Given the description of an element on the screen output the (x, y) to click on. 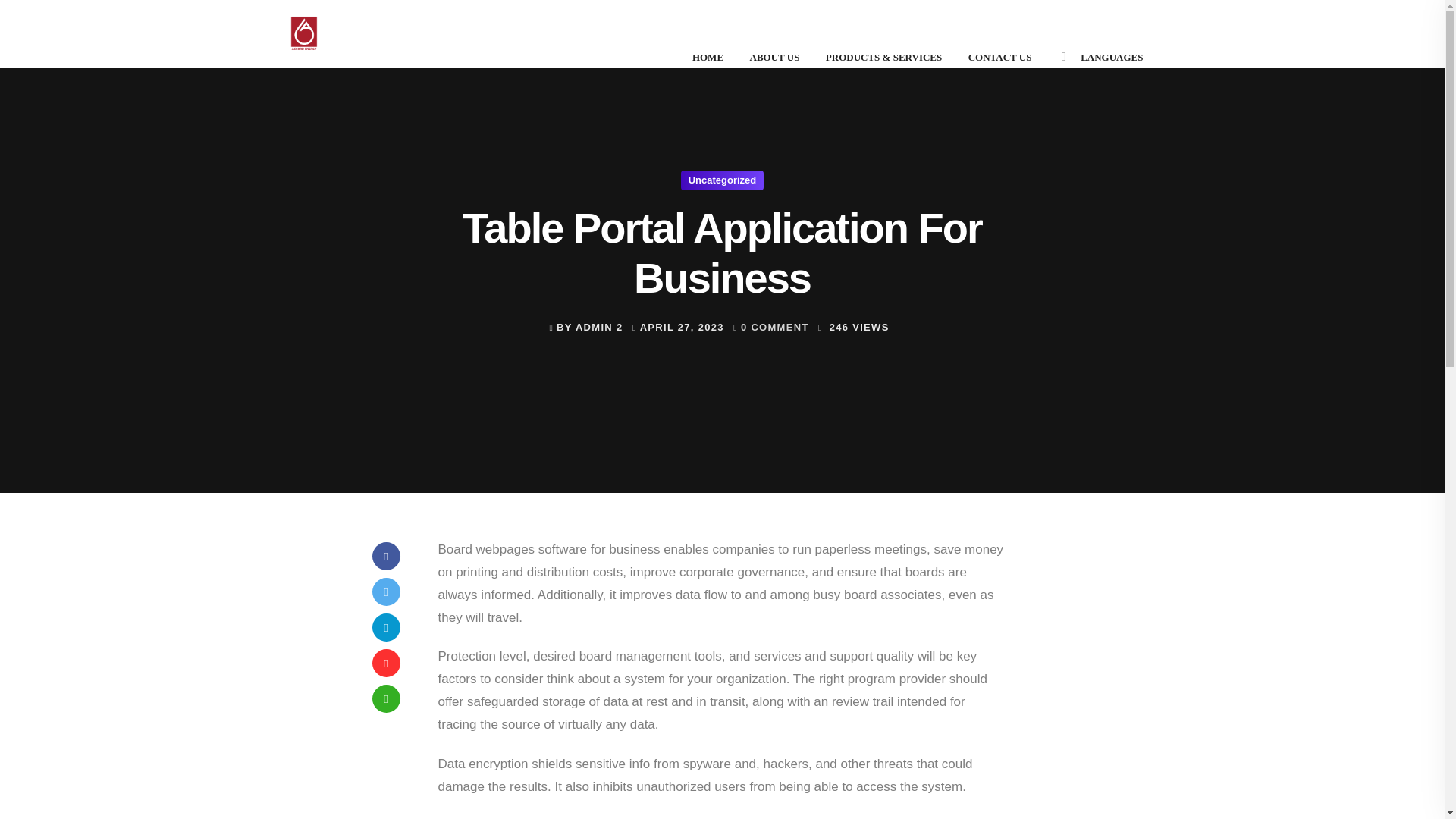
Search (16, 15)
Facebook (384, 556)
LANGUAGES (1111, 57)
Uncategorized (722, 179)
LinkedIn (384, 627)
HOME (708, 57)
ABOUT US (774, 57)
CONTACT US (1000, 57)
Tweet (384, 592)
0 COMMENT (775, 327)
